Given the description of an element on the screen output the (x, y) to click on. 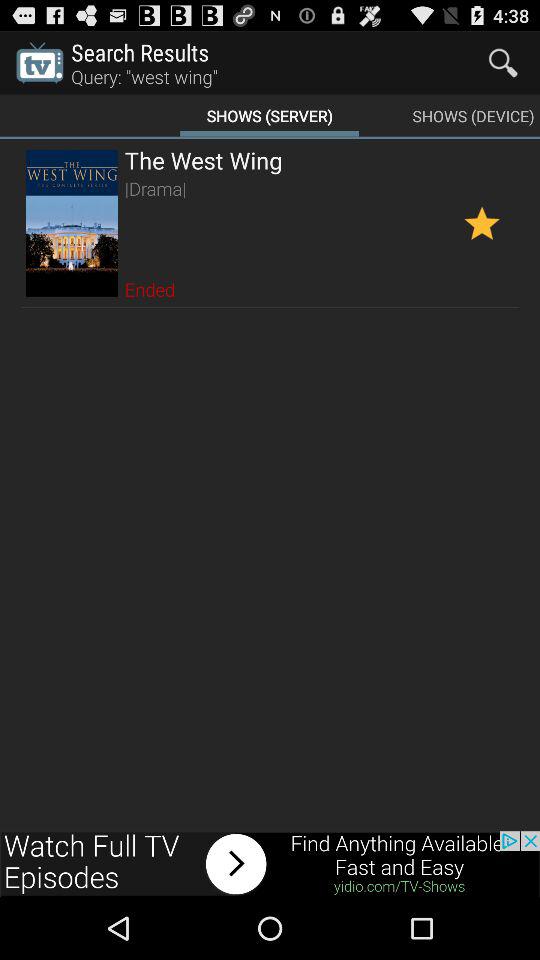
favorite this show (481, 222)
